Given the description of an element on the screen output the (x, y) to click on. 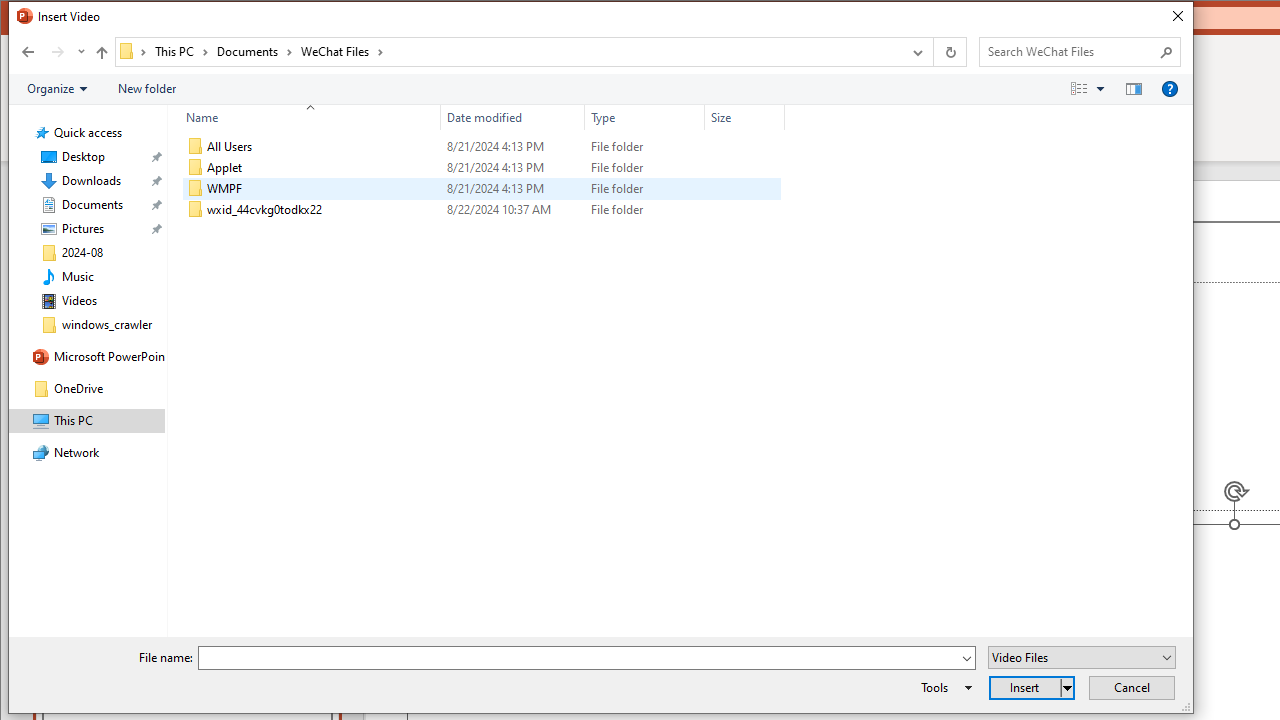
This PC (181, 51)
Files of type: (1082, 656)
Search Box (1069, 51)
Cancel (1132, 688)
Documents (254, 51)
Applet (481, 167)
Class: UIImage (195, 209)
Up to "Documents" (Alt + Up Arrow) (101, 52)
Command Module (600, 89)
Previous Locations (916, 51)
Date modified (512, 209)
Views (1092, 89)
